Given the description of an element on the screen output the (x, y) to click on. 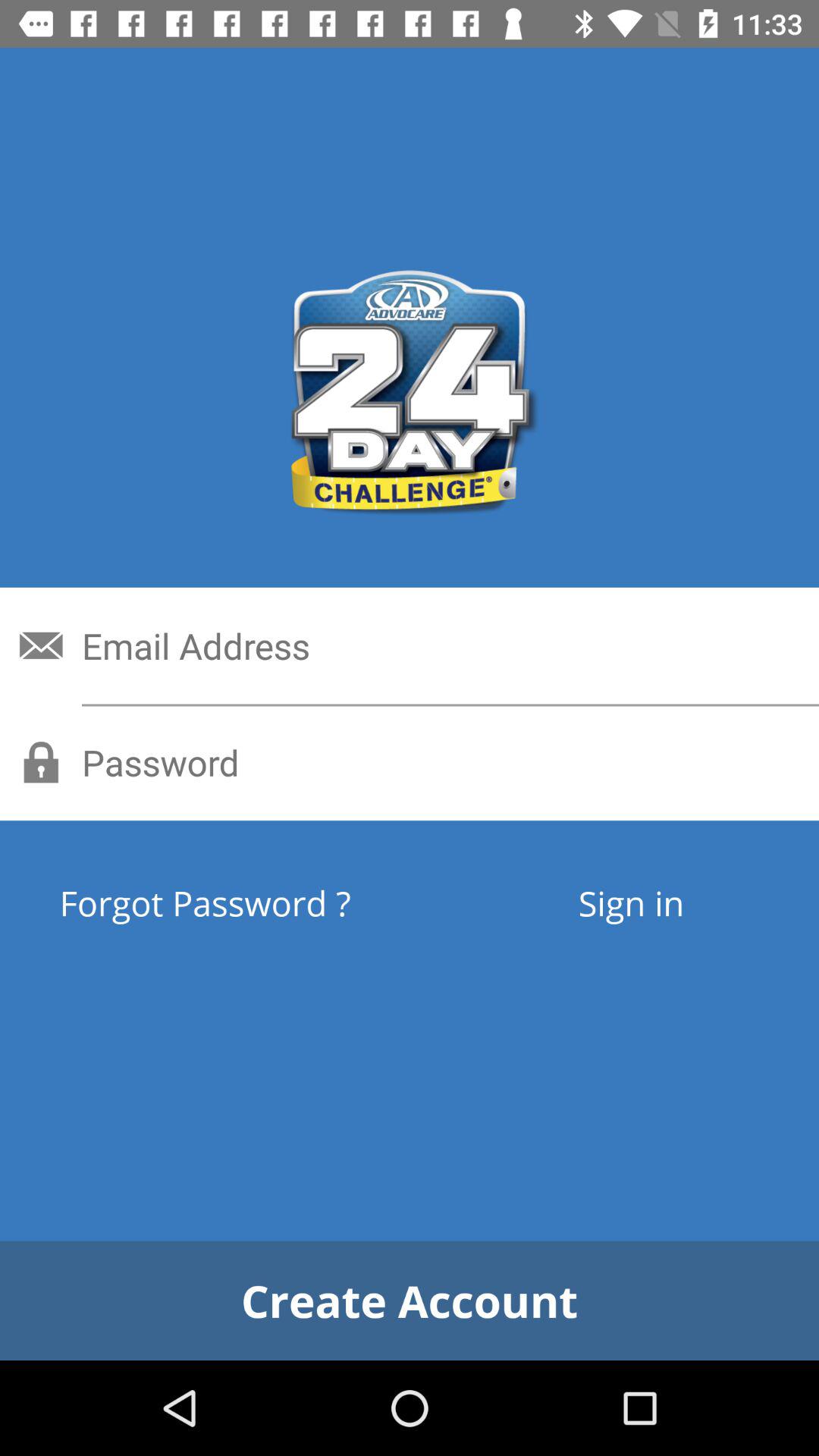
choose icon above the create account icon (631, 902)
